Given the description of an element on the screen output the (x, y) to click on. 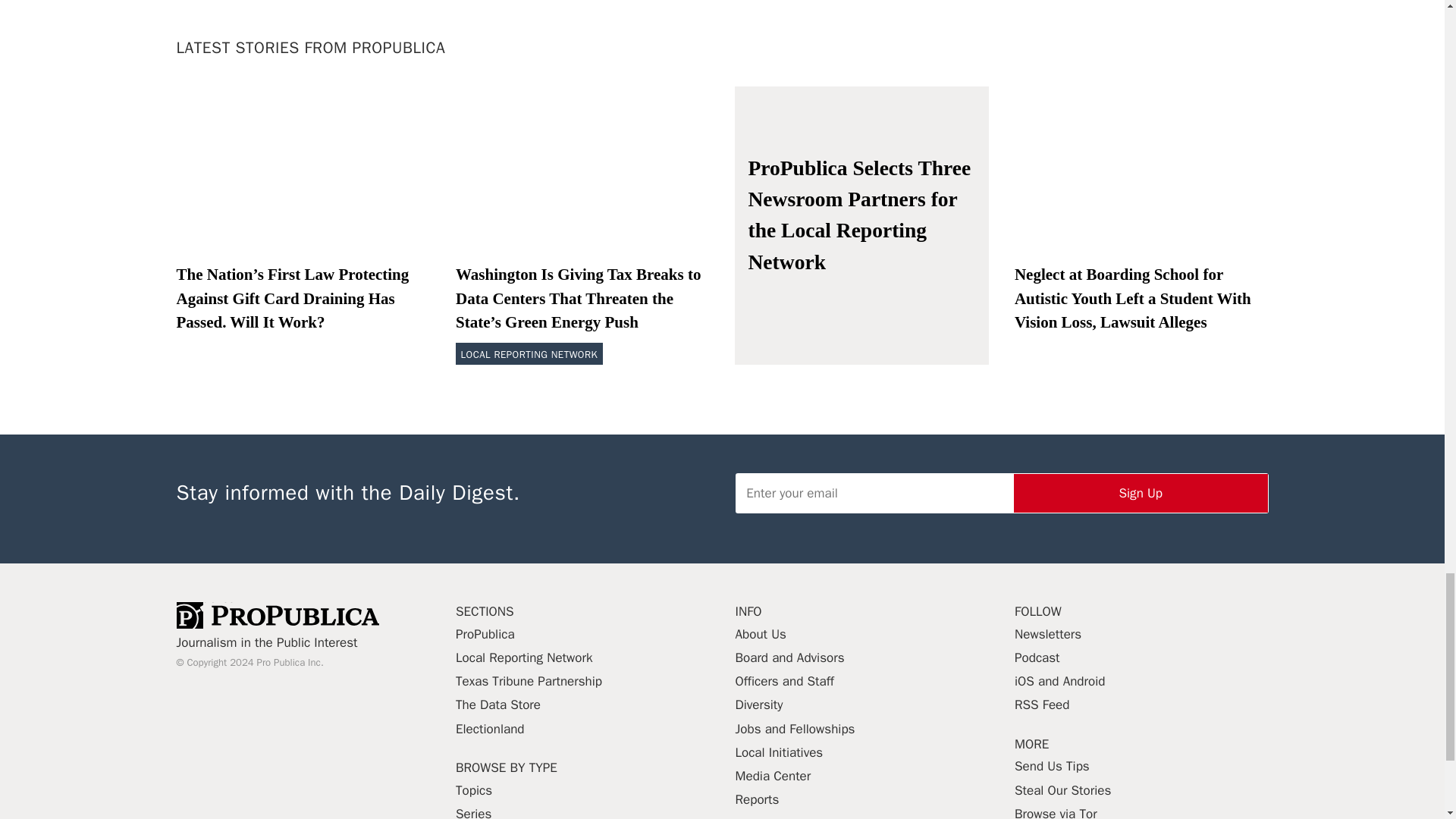
Sign Up (1140, 493)
